Given the description of an element on the screen output the (x, y) to click on. 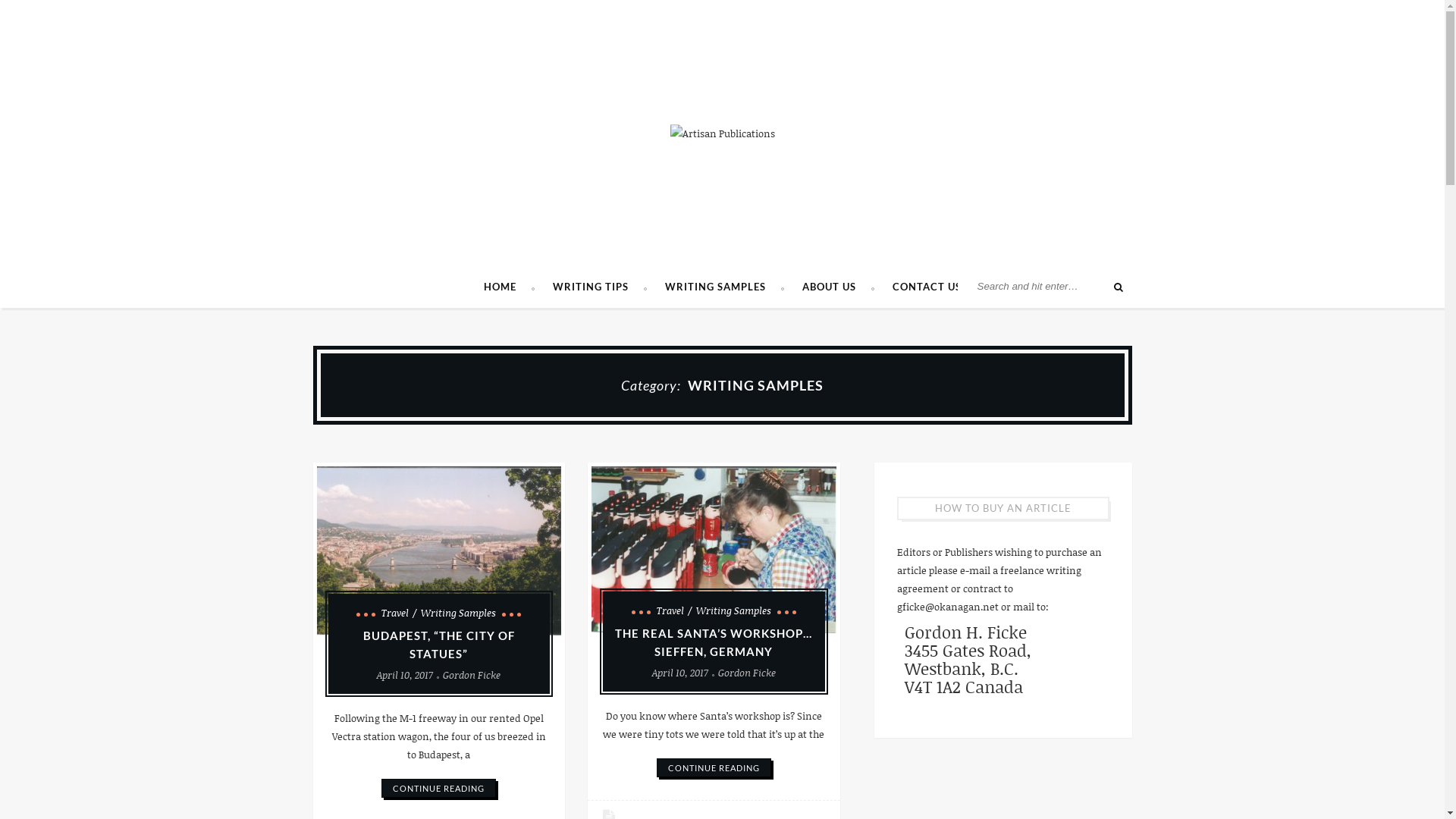
WRITING TIPS Element type: text (599, 286)
ABOUT US Element type: text (838, 286)
Gordon Ficke Element type: text (471, 674)
Travel Element type: text (674, 610)
gficke@okanagan.net Element type: text (946, 606)
Gordon Ficke Element type: text (746, 672)
Travel Element type: text (399, 612)
Writing Samples Element type: text (733, 610)
WRITING SAMPLES Element type: text (723, 286)
HOME Element type: text (508, 286)
CONTINUE READING Element type: text (438, 787)
Search for: Element type: hover (1047, 286)
CONTACT US Element type: text (925, 286)
Writing Samples Element type: text (457, 612)
CONTINUE READING Element type: text (713, 767)
